Given the description of an element on the screen output the (x, y) to click on. 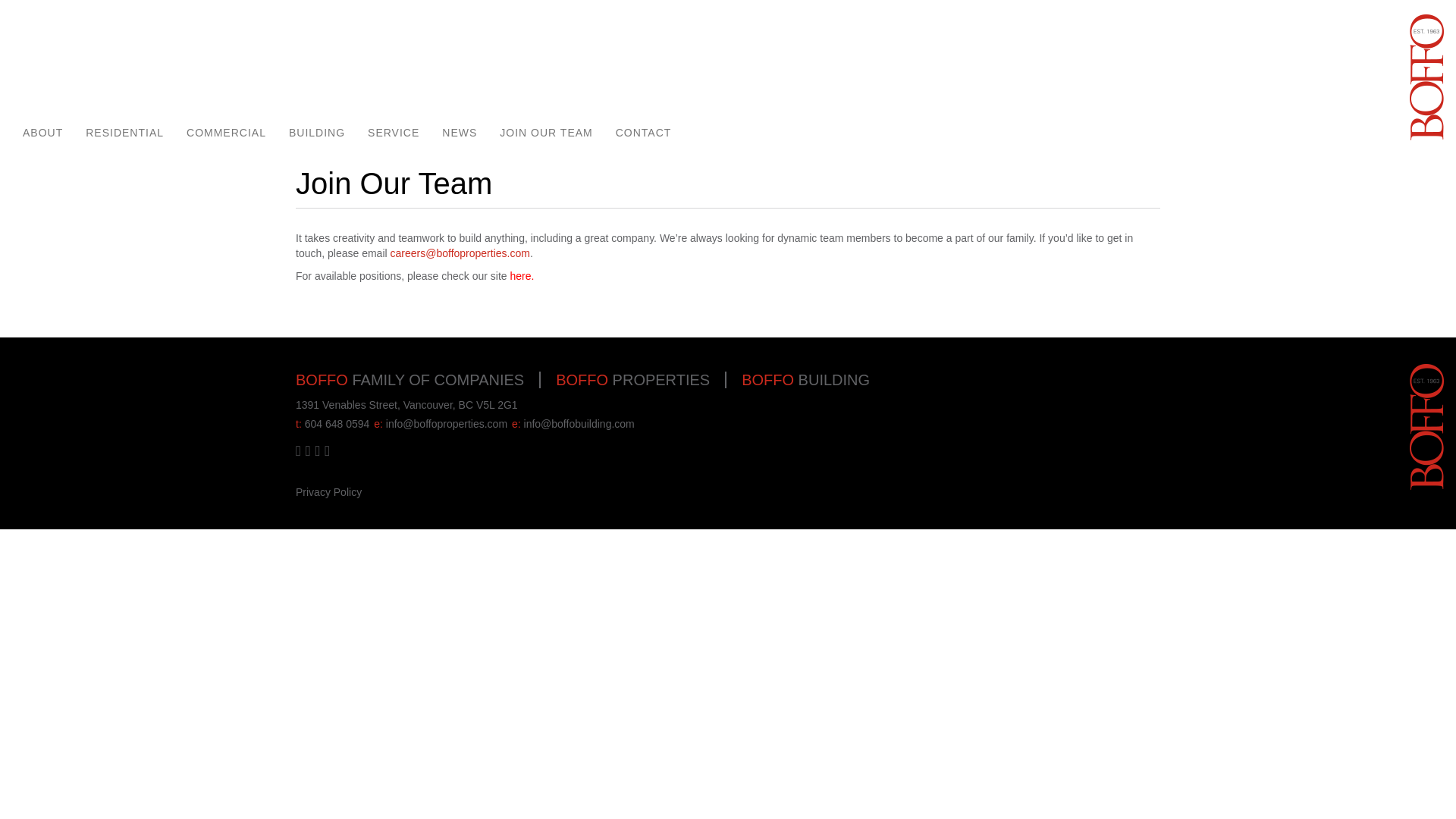
Boffo Properties Job Postings (520, 275)
COMMERCIAL (226, 132)
CONTACT (643, 132)
SERVICE (393, 132)
NEWS (458, 132)
here (520, 275)
BUILDING (317, 132)
JOIN OUR TEAM (545, 132)
Privacy Policy (328, 491)
ABOUT (42, 132)
RESIDENTIAL (124, 132)
